Given the description of an element on the screen output the (x, y) to click on. 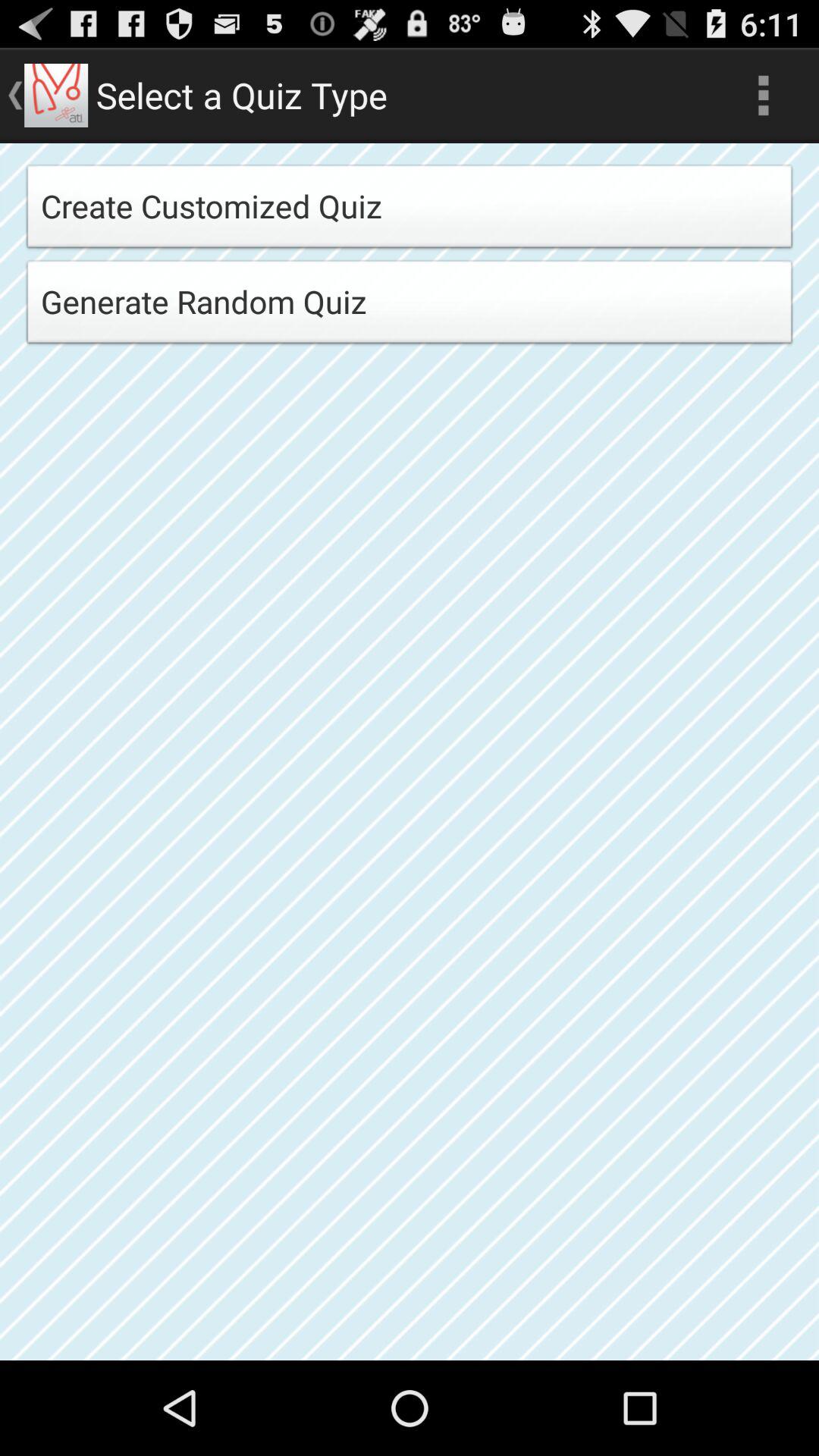
swipe to the generate random quiz item (409, 306)
